Given the description of an element on the screen output the (x, y) to click on. 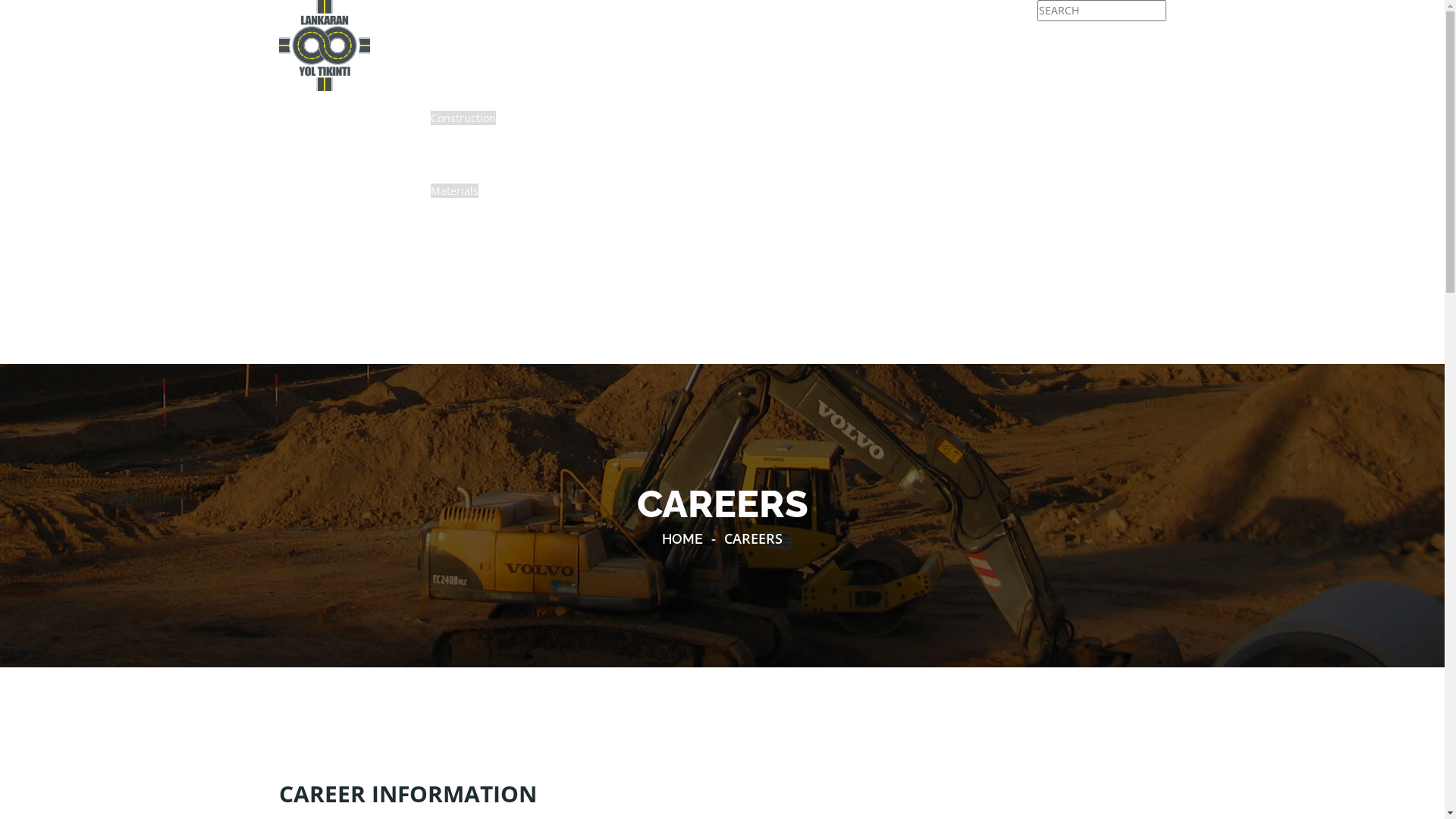
HSE Policy Element type: text (456, 63)
Materials Element type: text (454, 190)
Bridge Construction Element type: text (484, 172)
WHAT WE DO Element type: text (464, 99)
Careers Element type: text (450, 354)
Vision and Values Element type: text (475, 44)
Contact Us Element type: text (457, 336)
Emulsion Element type: text (457, 226)
About Us Element type: text (453, 26)
Aggregate Element type: text (459, 208)
Machinery Park Element type: text (469, 81)
Ready-mix Concrete Element type: text (484, 263)
HUMAN RESOURCES Element type: text (482, 299)
Precast Concrete Element type: text (476, 245)
HOME Element type: text (682, 538)
Asphalt Paving Element type: text (471, 135)
WHO WE ARE Element type: text (464, 8)
Projects Element type: text (450, 281)
Construction Element type: text (462, 117)
HR Policy Element type: text (453, 317)
Concrete Road Construction Element type: text (505, 154)
